Given the description of an element on the screen output the (x, y) to click on. 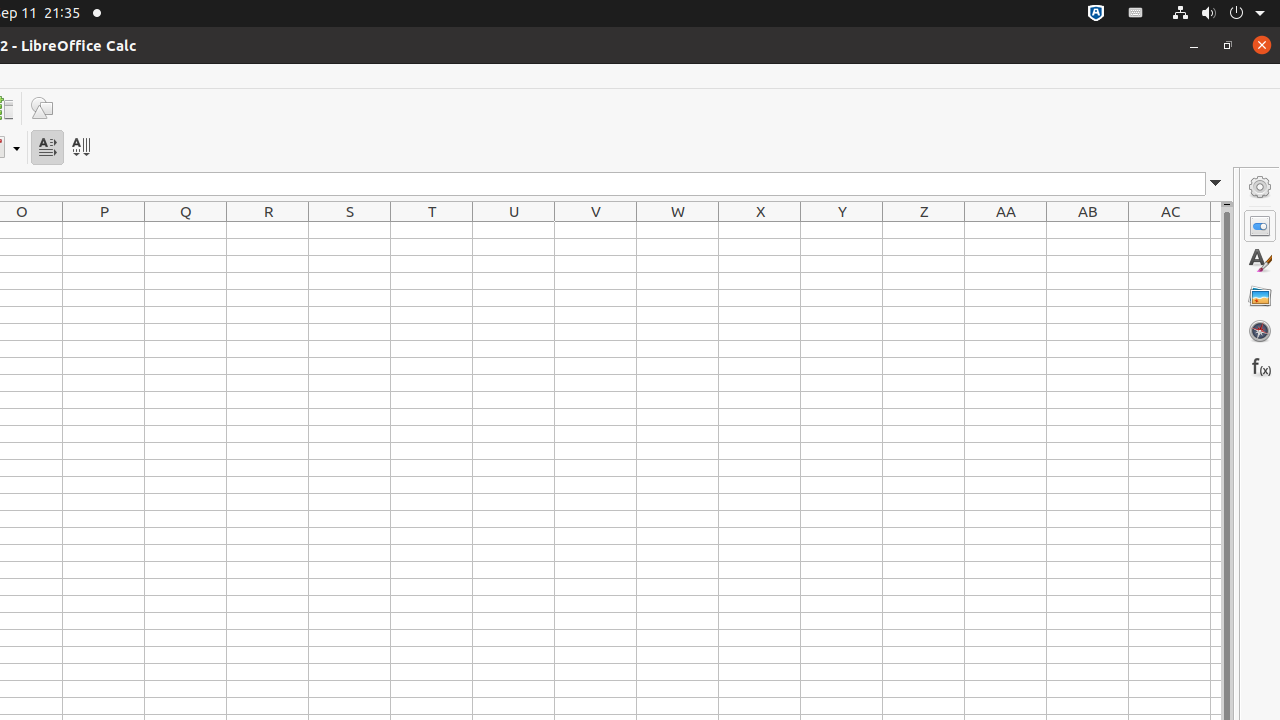
Z1 Element type: table-cell (924, 230)
V1 Element type: table-cell (596, 230)
AA1 Element type: table-cell (1006, 230)
W1 Element type: table-cell (678, 230)
Text direction from top to bottom Element type: toggle-button (80, 147)
